Given the description of an element on the screen output the (x, y) to click on. 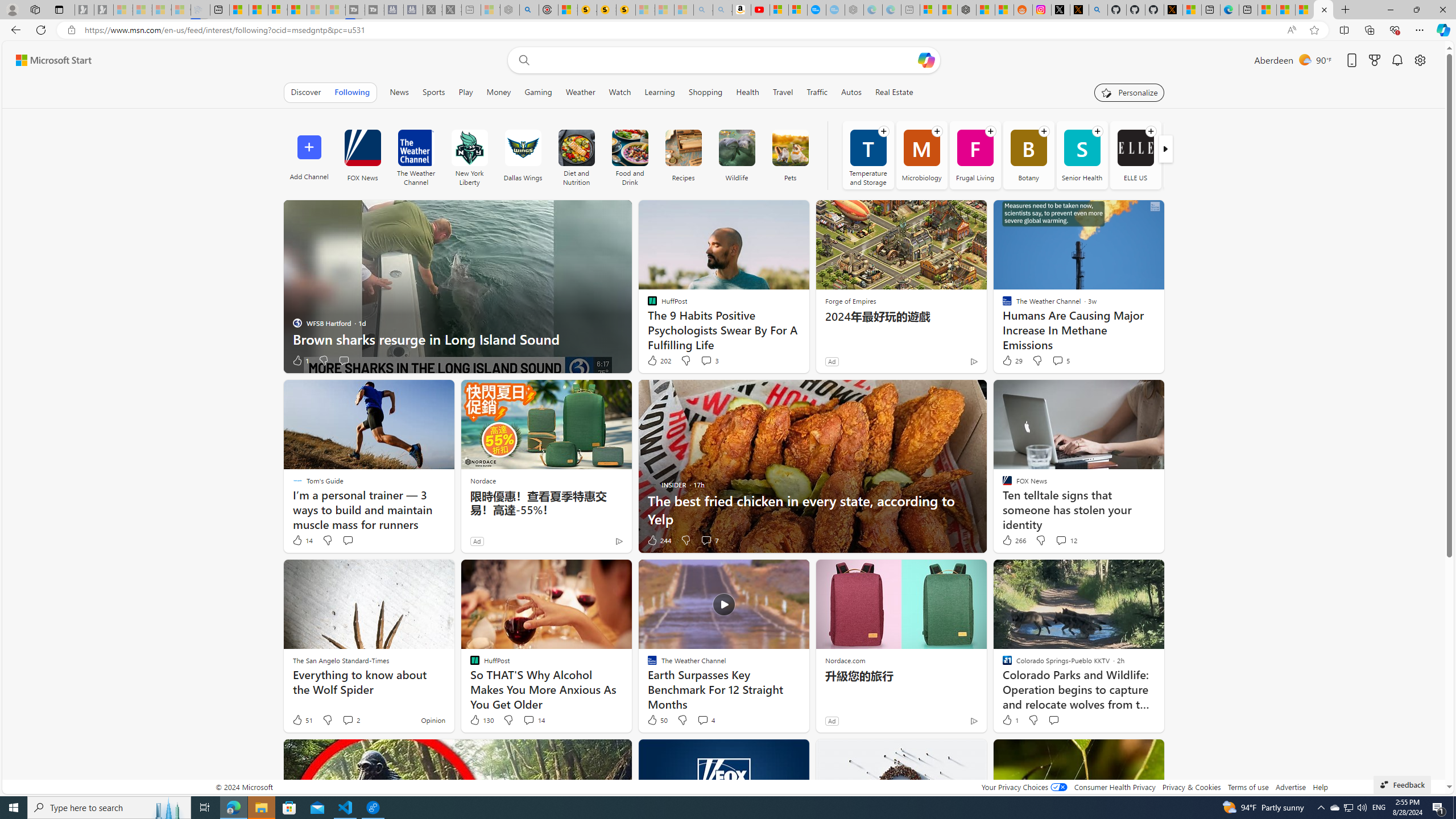
Consumer Health Privacy (1115, 786)
Health (747, 92)
Sports (433, 92)
Microsoft rewards (1374, 60)
Watch (619, 92)
Food and Drink (629, 155)
Log in to X / X (1060, 9)
The most popular Google 'how to' searches - Sleeping (835, 9)
See more (1149, 752)
Nordace.com (845, 660)
Newsletter Sign Up - Sleeping (102, 9)
Start the conversation (1053, 719)
50 Like (657, 719)
New York Liberty (469, 155)
